Given the description of an element on the screen output the (x, y) to click on. 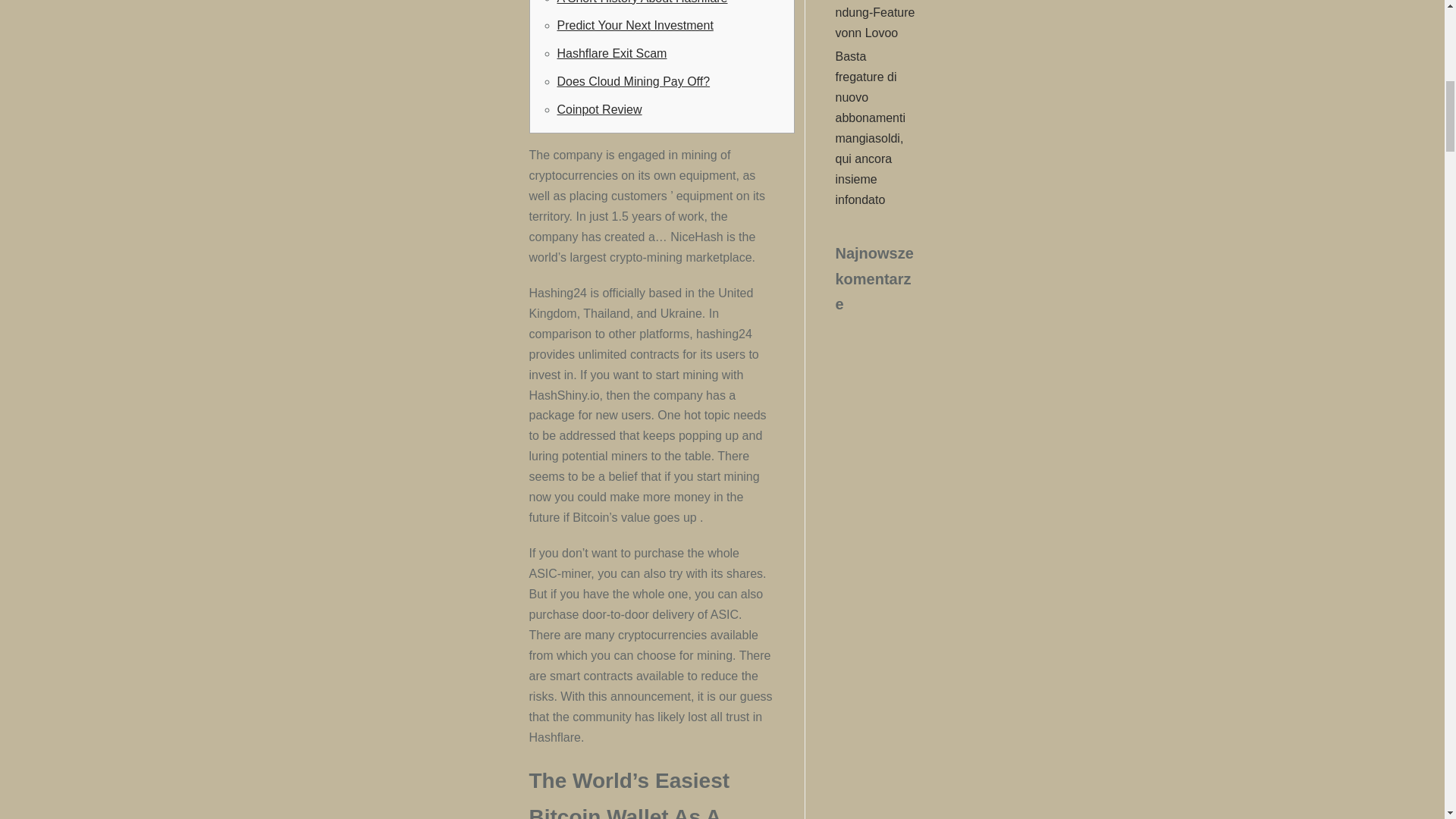
Coinpot Review (599, 109)
Does Cloud Mining Pay Off? (633, 81)
Predict Your Next Investment (634, 24)
A Short History About Hashflare (641, 2)
Hashflare Exit Scam (611, 52)
